Given the description of an element on the screen output the (x, y) to click on. 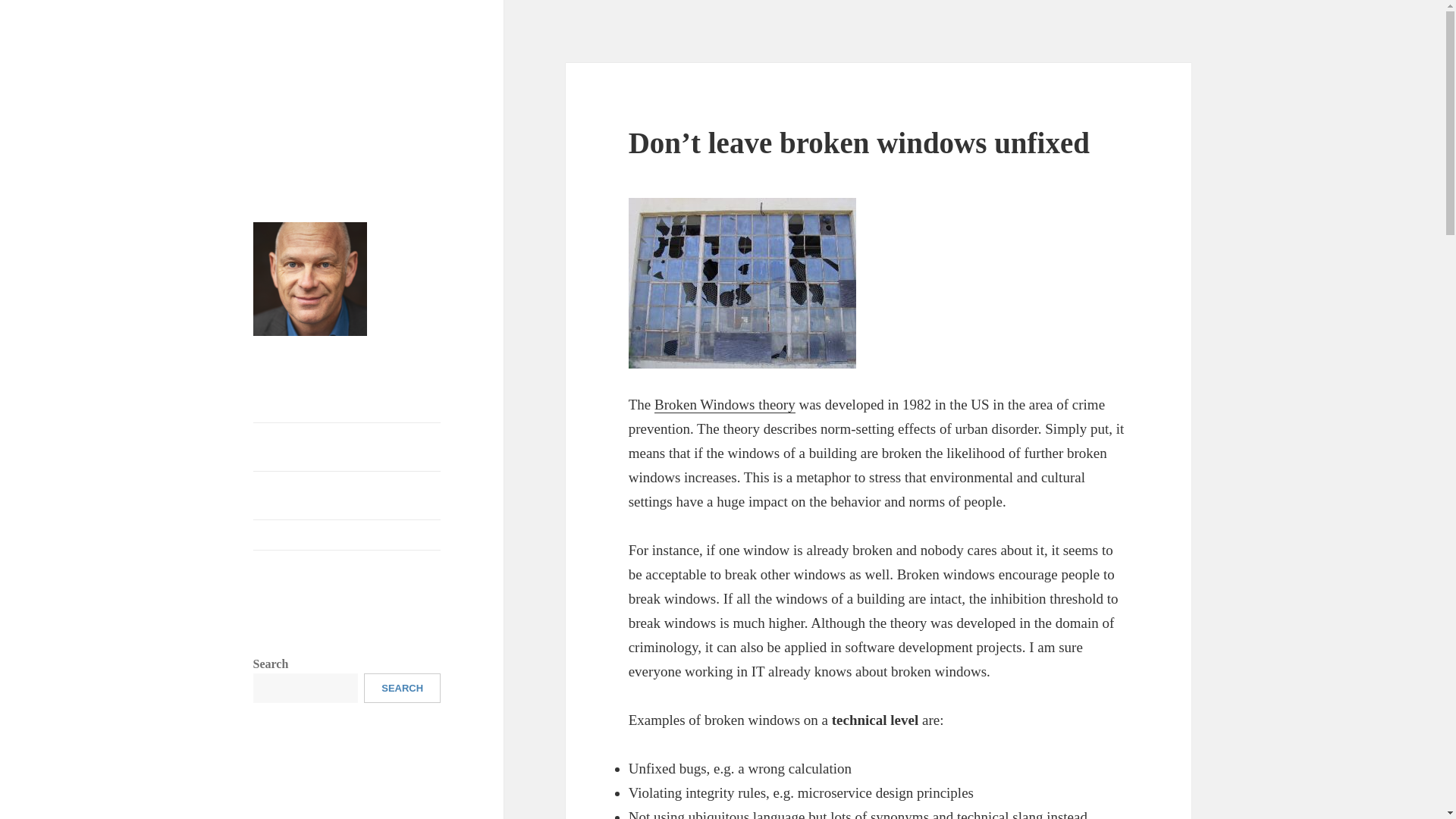
Big Data (277, 810)
Biztalk (375, 809)
Activiti (275, 784)
BiPRO (327, 810)
BPEL (420, 811)
The secrets of evolvable software (334, 407)
Efficient technology for the enterprise (342, 99)
Angular (377, 786)
Lean Coffee at Jax Innovation Forum and DevOpsCon (344, 495)
Kanban Flight Levels and OKR at JAX 2022 (336, 573)
SEARCH (402, 687)
Agile (328, 782)
